Given the description of an element on the screen output the (x, y) to click on. 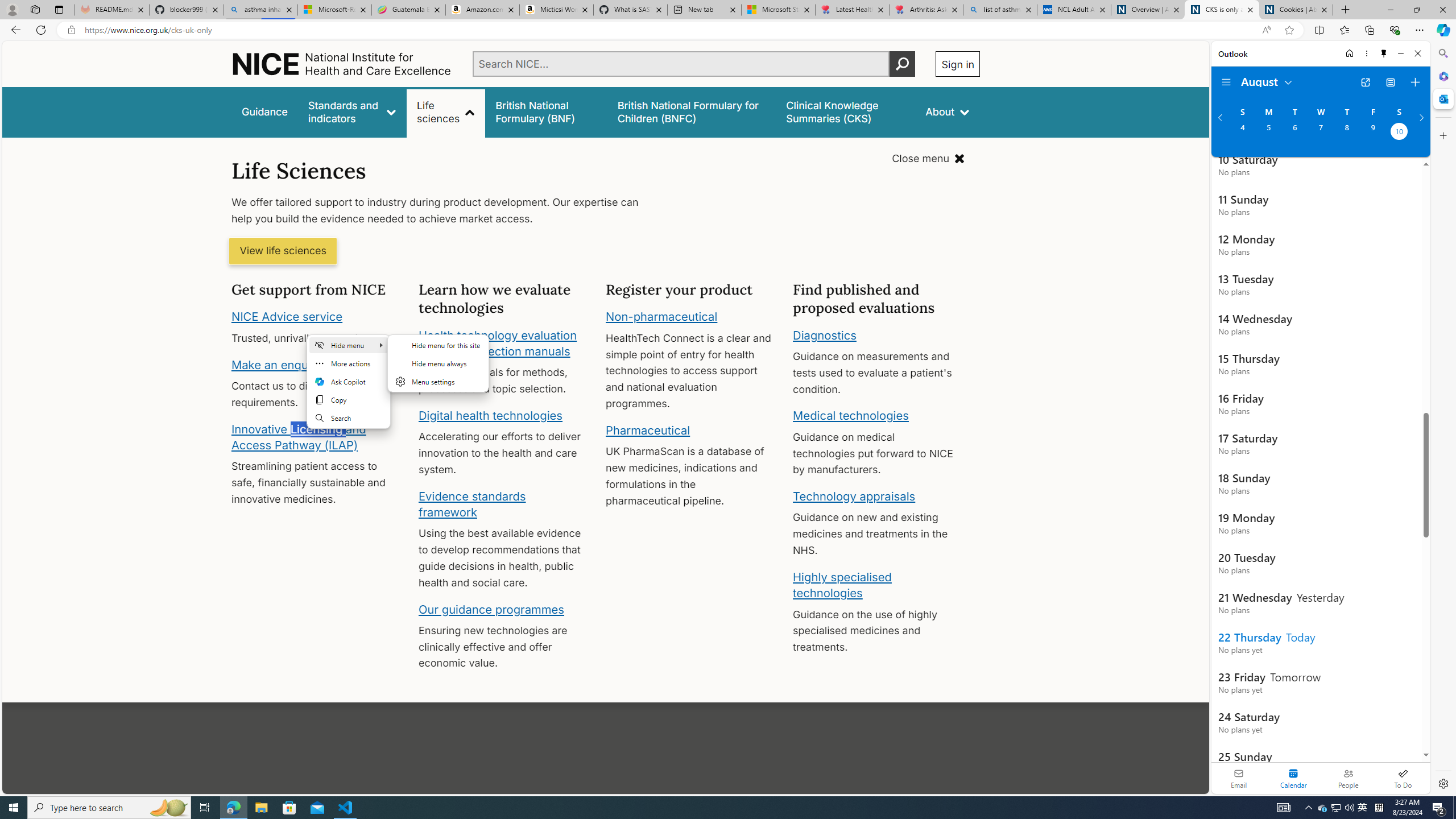
Ask Copilot (348, 381)
Friday, August 9, 2024.  (1372, 132)
Create event (1414, 82)
Mini menu on text selection (348, 381)
